Given the description of an element on the screen output the (x, y) to click on. 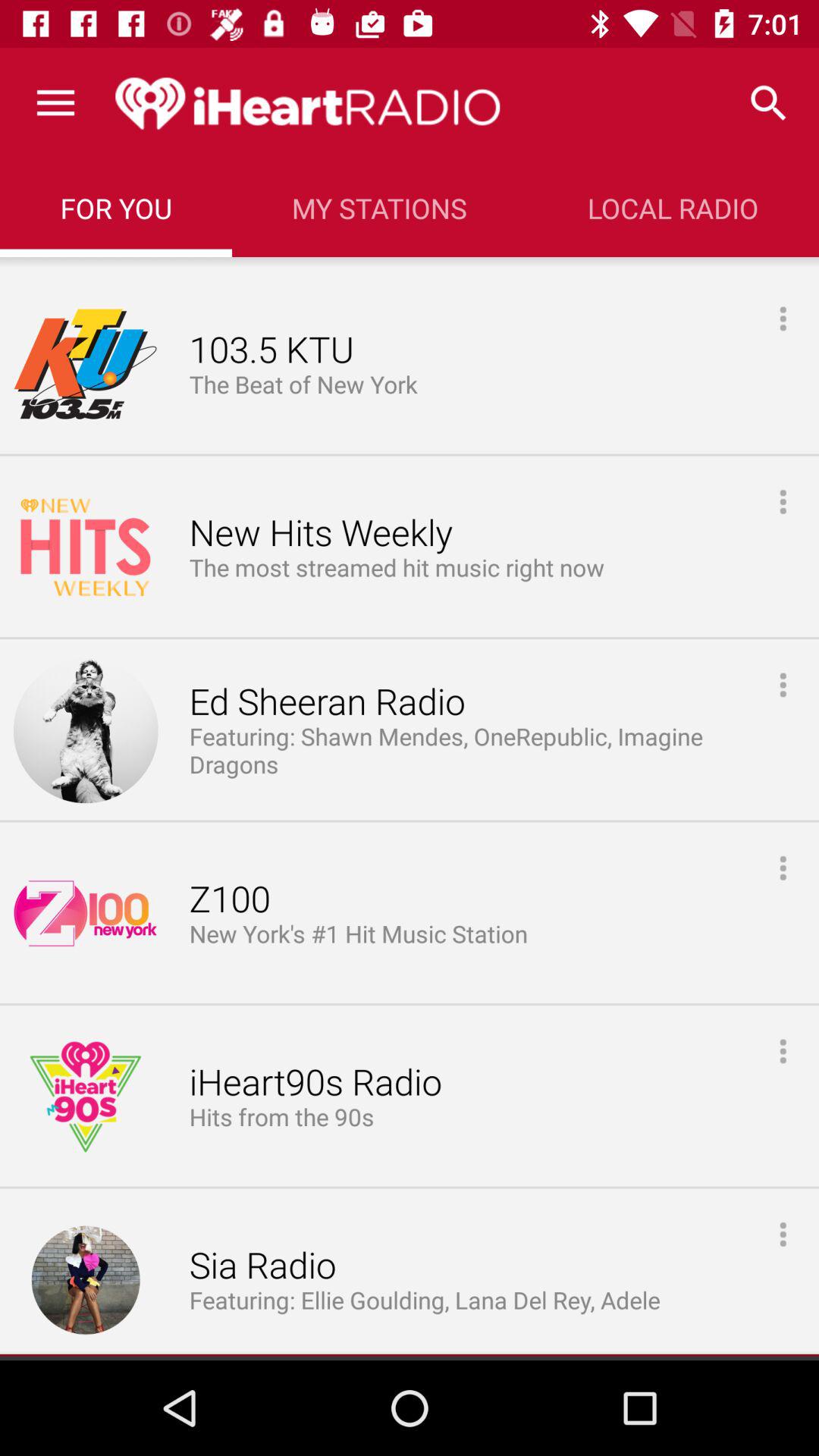
scroll to the sia radio (262, 1266)
